Given the description of an element on the screen output the (x, y) to click on. 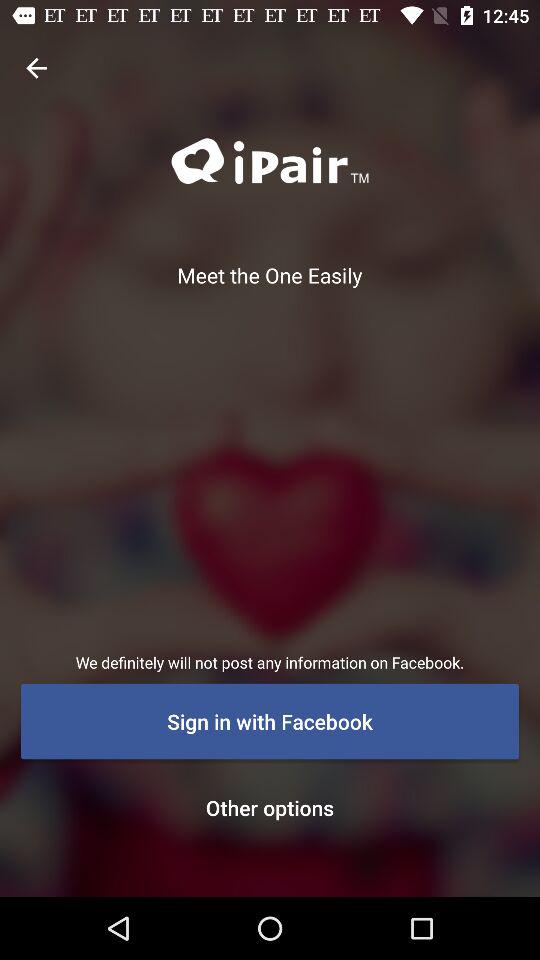
turn off sign in with (270, 721)
